Given the description of an element on the screen output the (x, y) to click on. 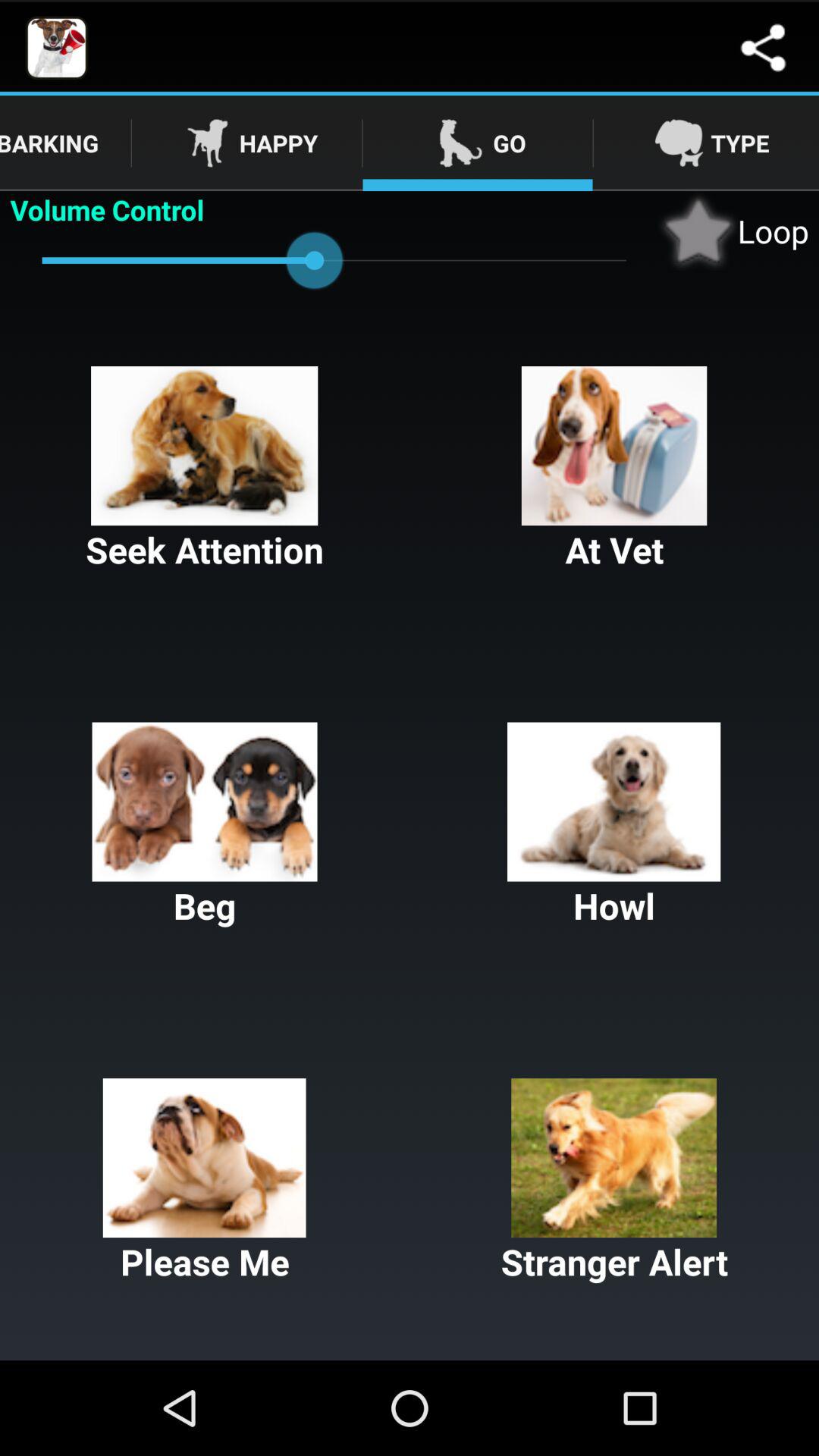
open button above the beg (614, 469)
